Given the description of an element on the screen output the (x, y) to click on. 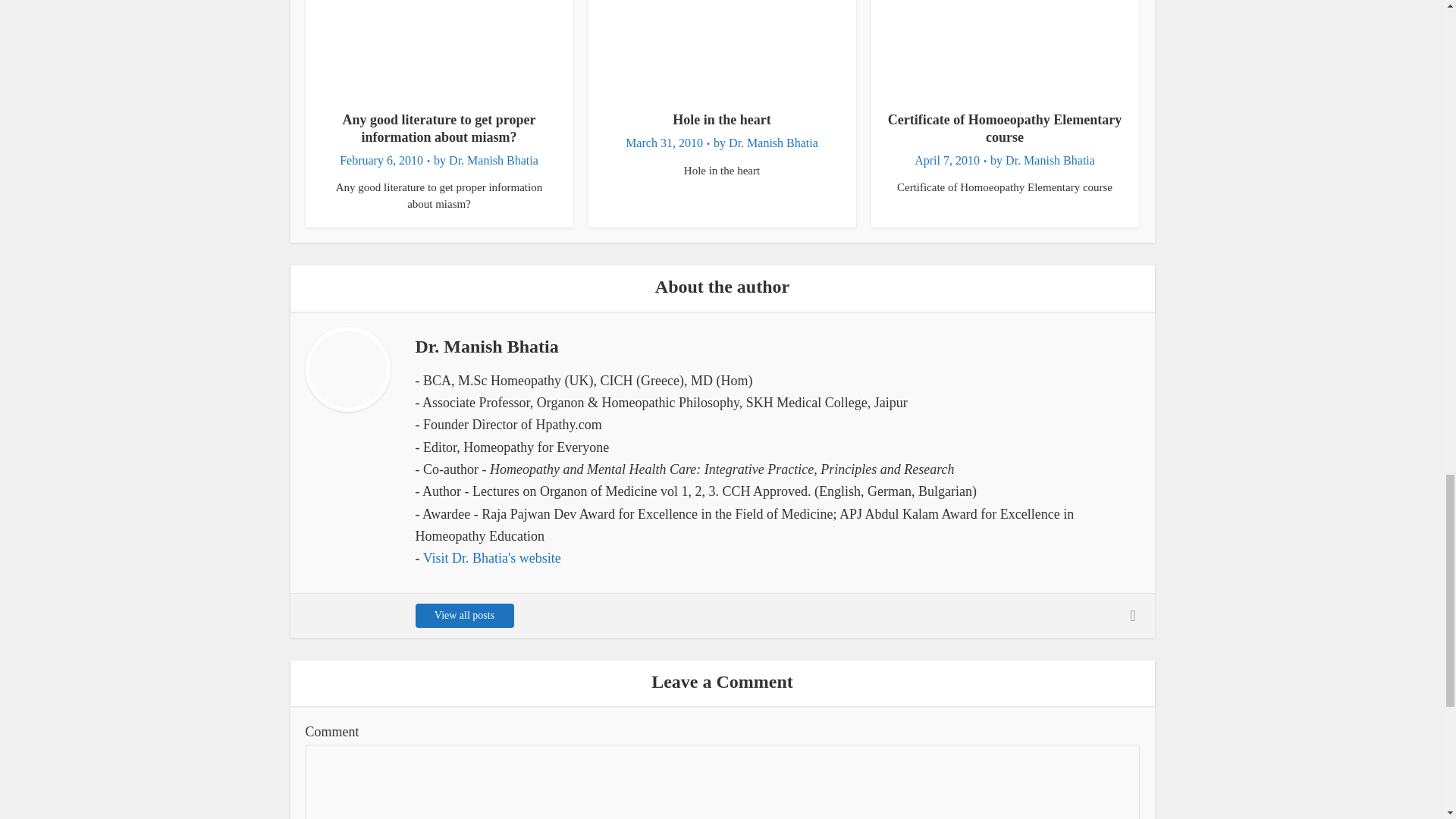
Hole in the heart (721, 119)
Certificate of Homoeopathy Elementary course (1004, 128)
Any good literature to get proper information about miasm? (438, 128)
